Given the description of an element on the screen output the (x, y) to click on. 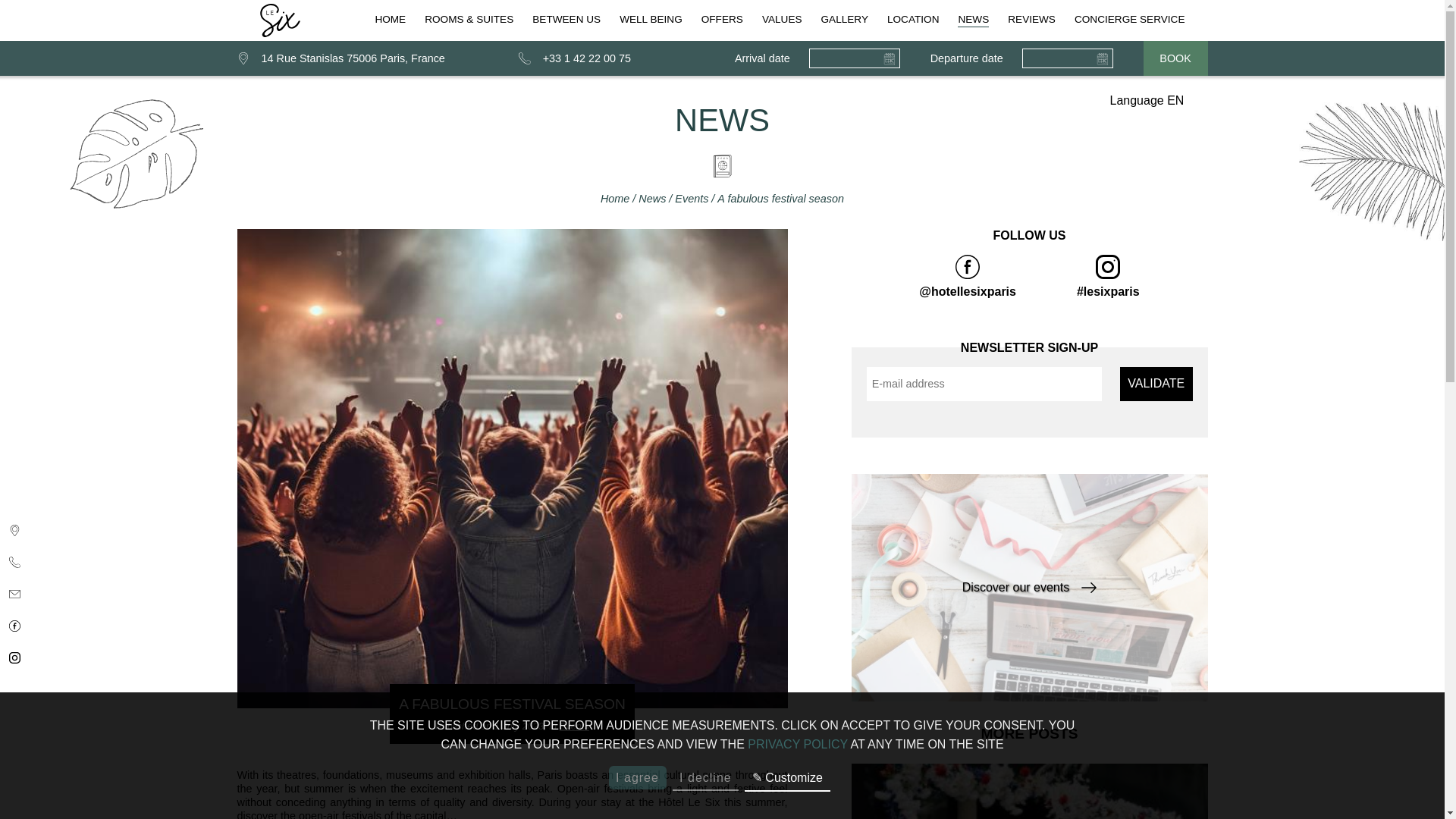
OFFERS (721, 20)
Home (615, 198)
Events (574, 726)
Email (14, 593)
Location (14, 529)
REVIEWS (1031, 20)
NEWS (973, 20)
14 Rue Stanislas 75006 Paris, France (339, 58)
Discover our events (1028, 587)
VALIDATE (1155, 383)
BETWEEN US (565, 20)
Facebook (967, 276)
Facebook (14, 624)
BOOK (1175, 58)
Instagram (1108, 276)
